Given the description of an element on the screen output the (x, y) to click on. 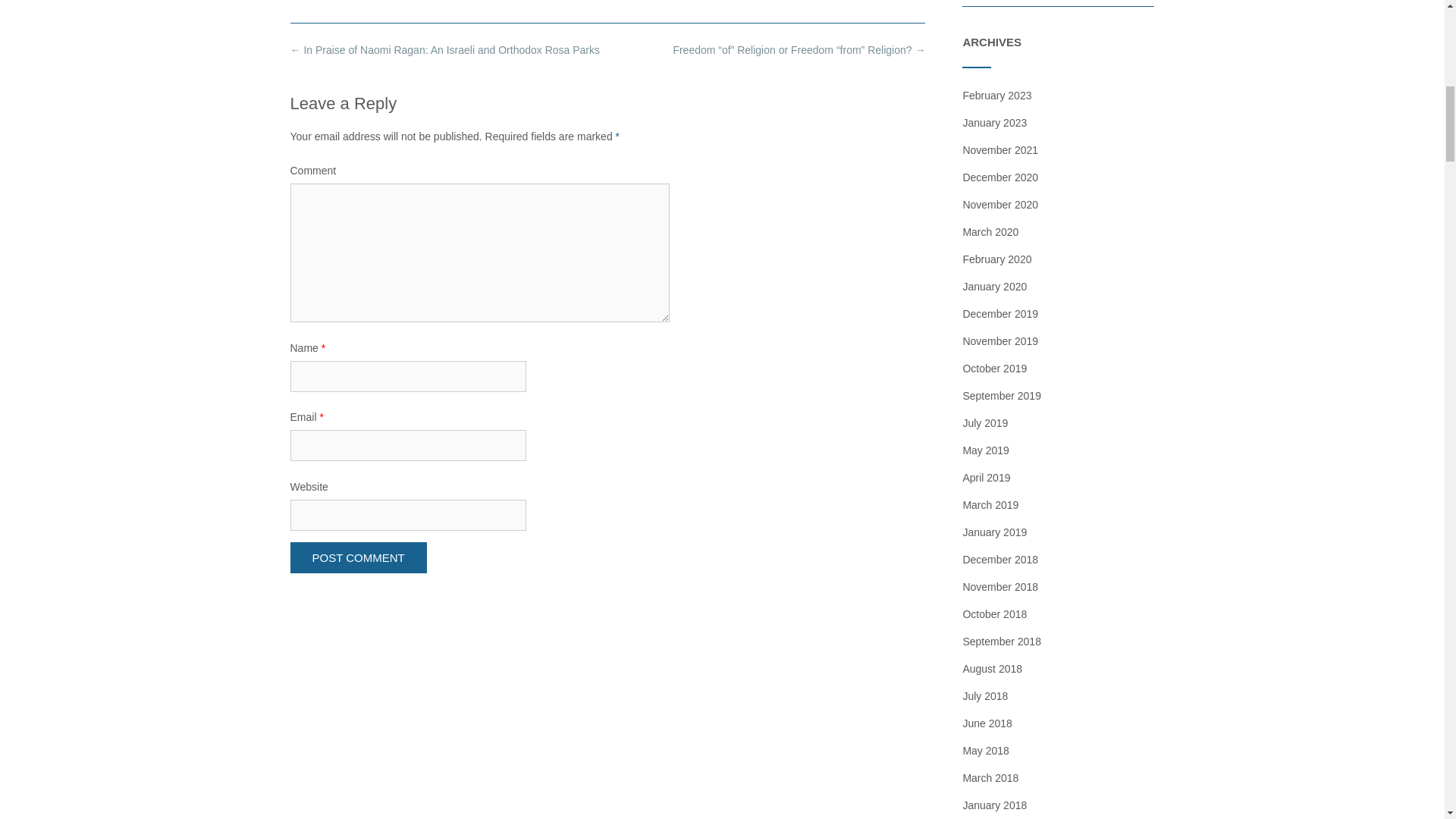
January 2020 (994, 286)
February 2020 (996, 259)
December 2020 (1000, 177)
March 2020 (989, 232)
November 2020 (1000, 204)
November 2021 (1000, 150)
December 2019 (1000, 313)
Post Comment (357, 557)
February 2023 (996, 95)
January 2023 (994, 122)
